Given the description of an element on the screen output the (x, y) to click on. 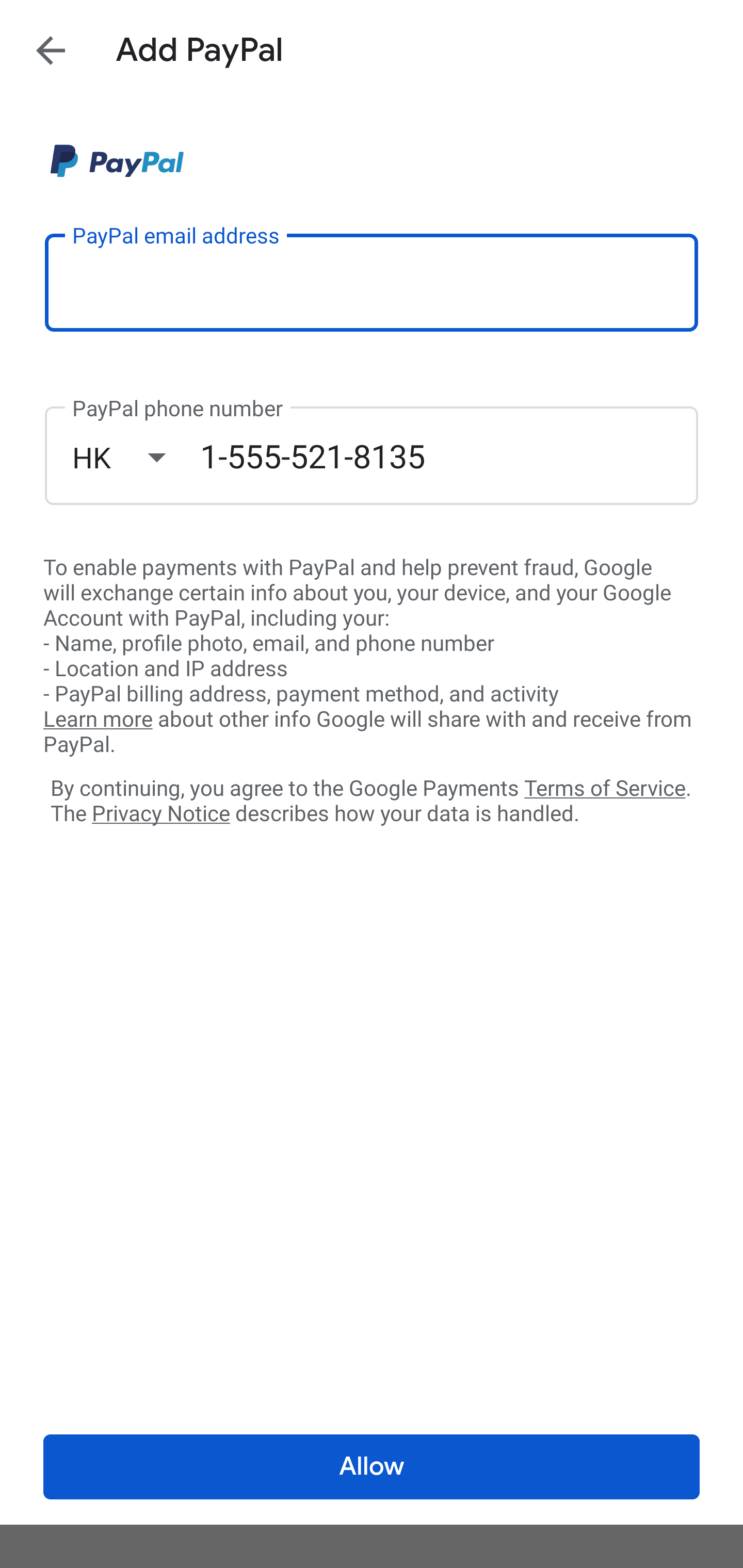
Navigate up (50, 50)
PayPal email address (371, 282)
HK (135, 456)
Learn more (97, 719)
Terms of Service (604, 787)
Privacy Notice (160, 814)
Allow (371, 1466)
